Given the description of an element on the screen output the (x, y) to click on. 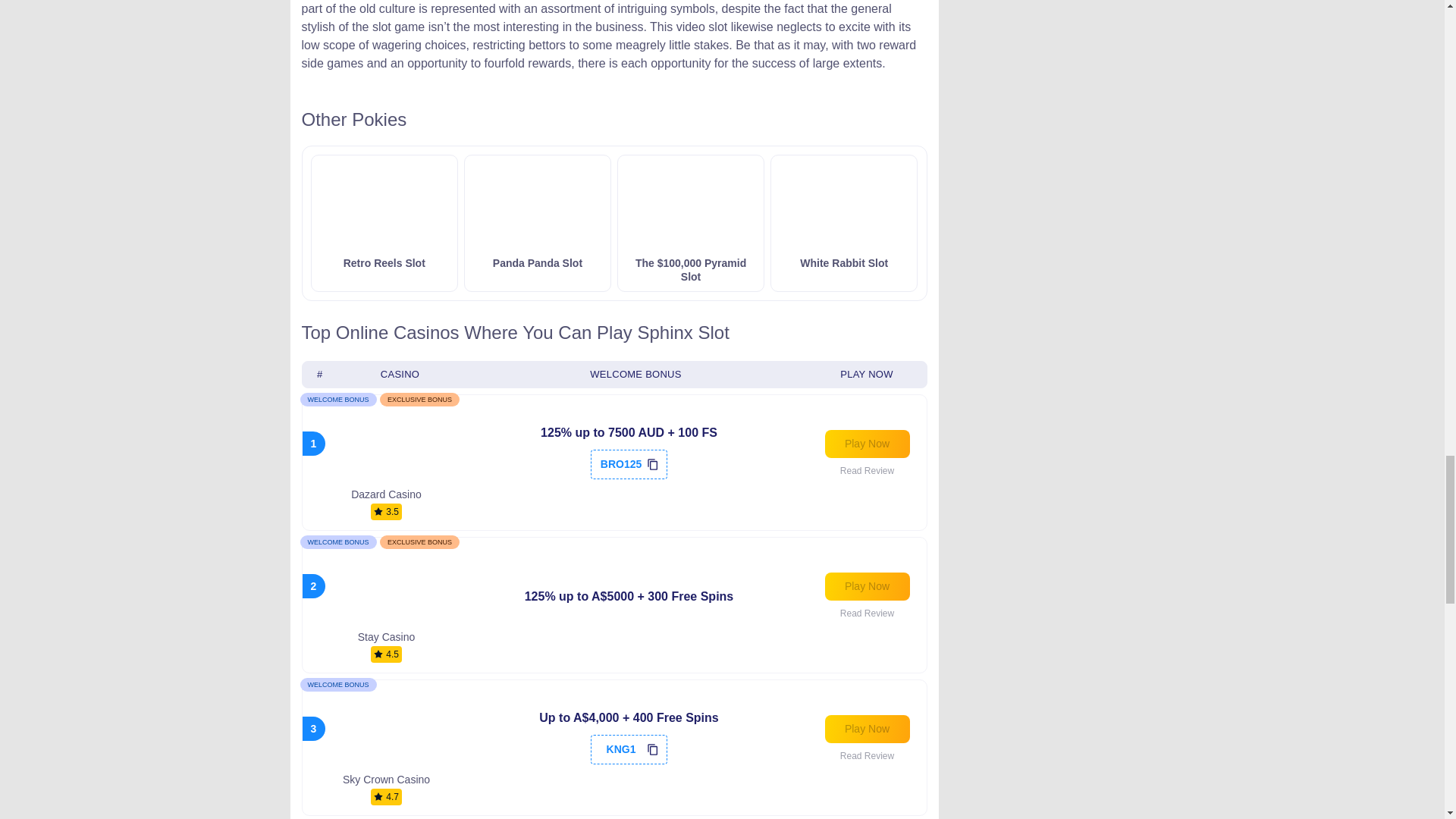
Play at Stay Casino (867, 586)
Play at Dazard Casino (867, 443)
Play at Sky Crown Casino (867, 728)
